Given the description of an element on the screen output the (x, y) to click on. 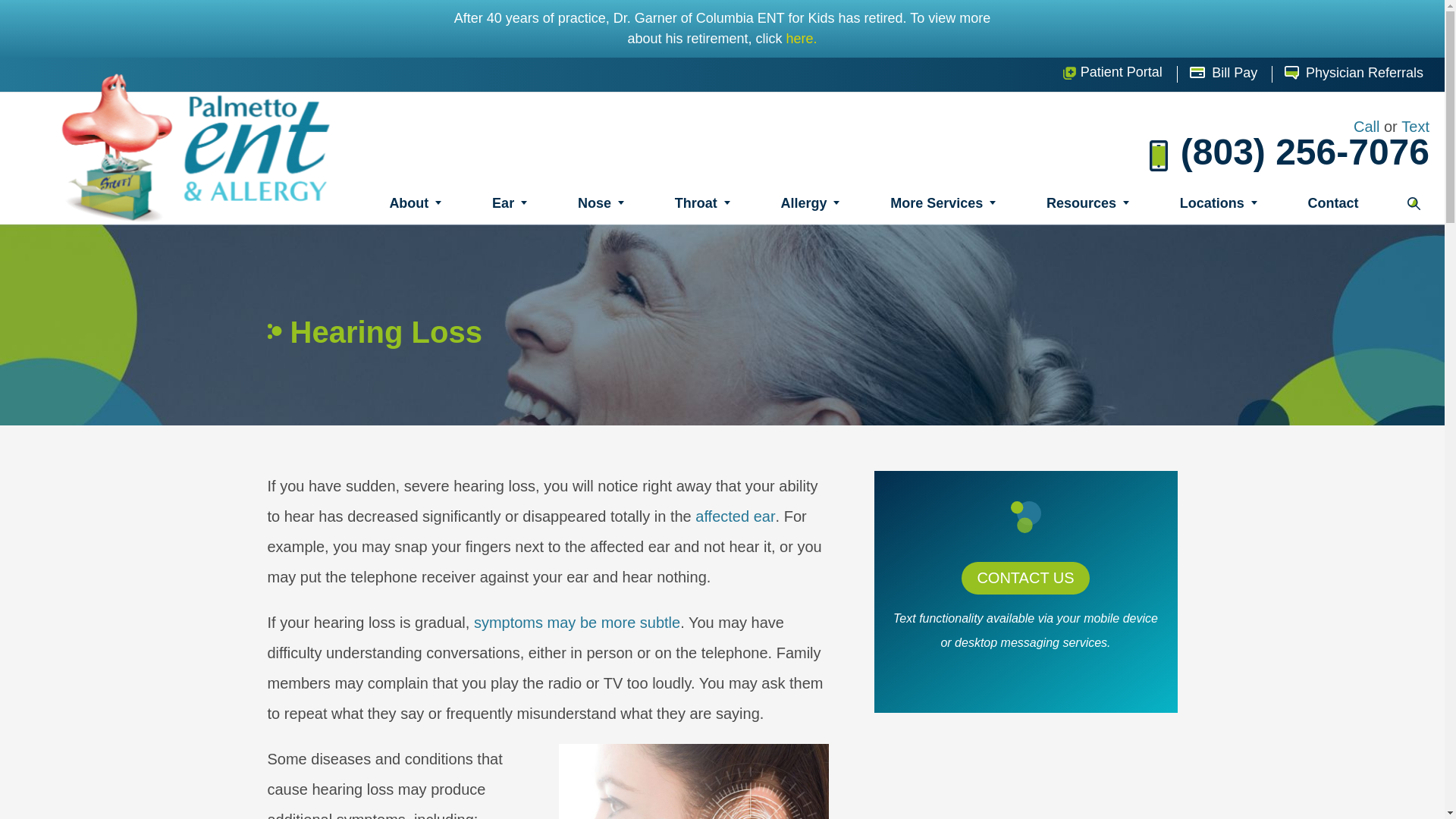
Ear (510, 203)
Search (1414, 203)
Patient Portal (1113, 74)
here. (801, 38)
About (415, 203)
Text (1414, 126)
Physician Referrals (1353, 74)
Call (1366, 126)
Bill Pay (1223, 74)
